Given the description of an element on the screen output the (x, y) to click on. 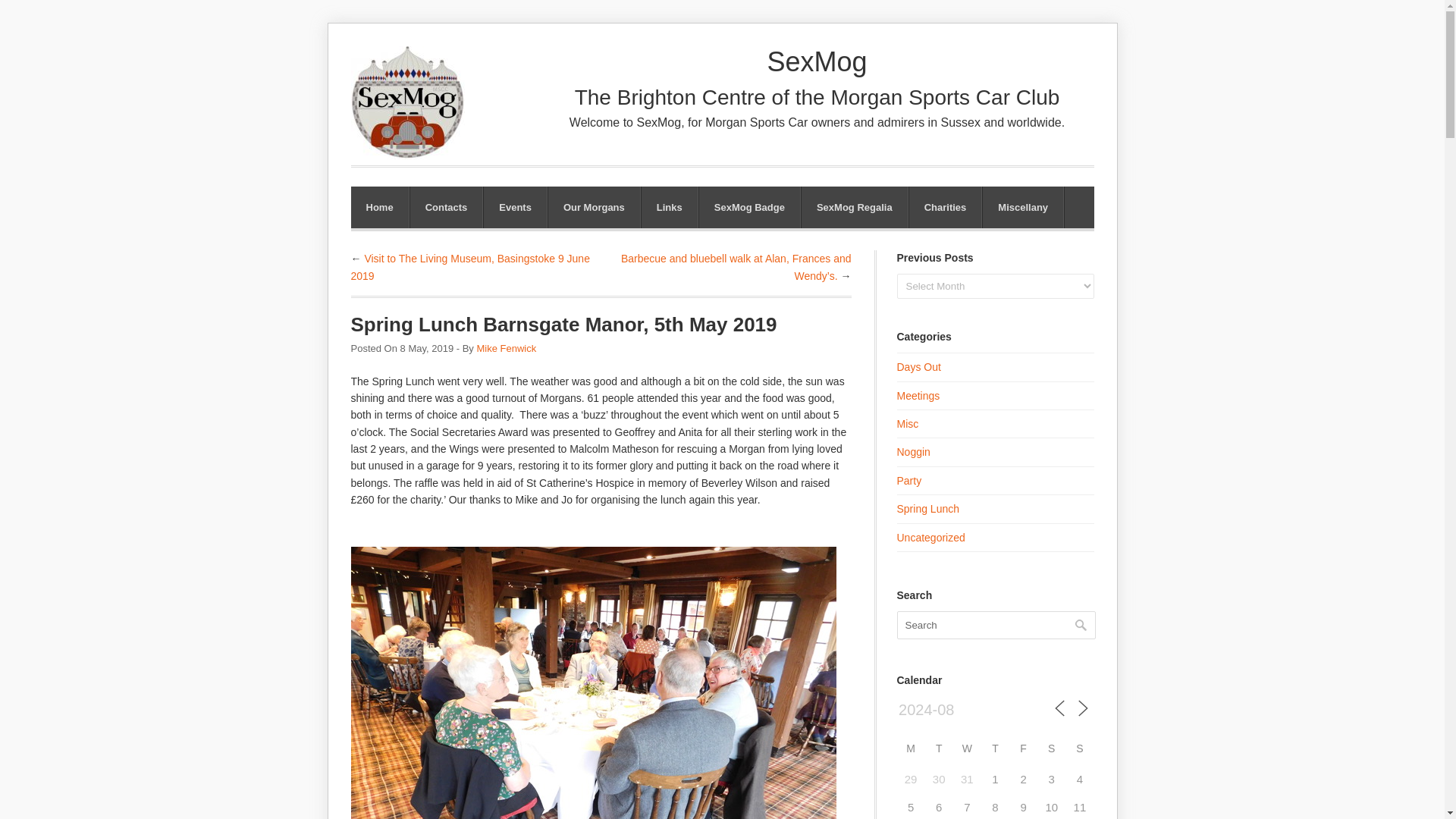
Home (378, 207)
SexMog Badge (748, 207)
Uncategorized (929, 537)
Misc (907, 423)
Our Morgans (594, 207)
Miscellany (1022, 207)
Search (995, 624)
Links (669, 207)
Party (908, 480)
Meetings (917, 395)
